Given the description of an element on the screen output the (x, y) to click on. 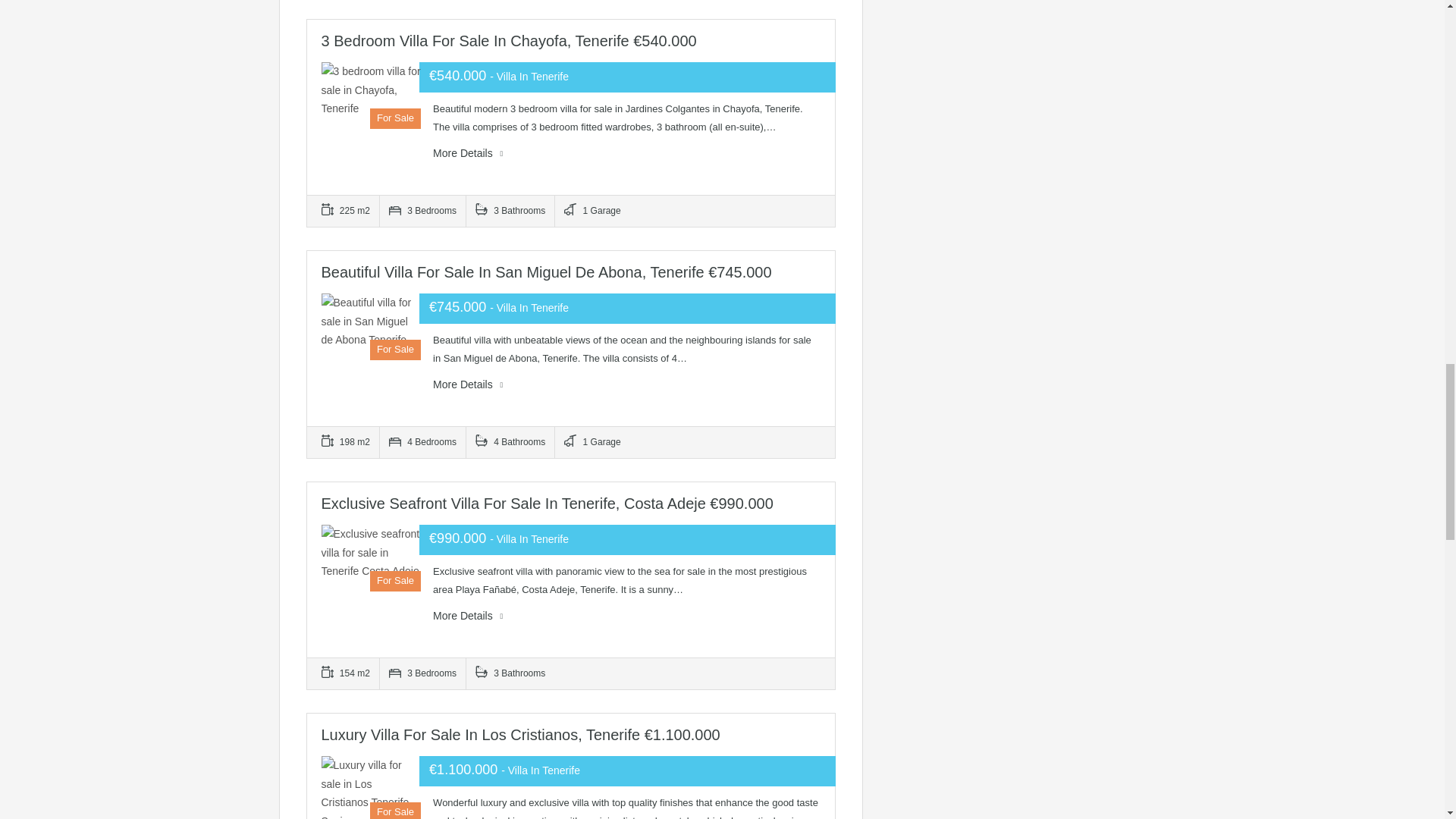
Area Size (350, 441)
More Details (467, 384)
More Details (467, 153)
Area Size (350, 673)
More Details (467, 615)
Area Size (350, 210)
